Given the description of an element on the screen output the (x, y) to click on. 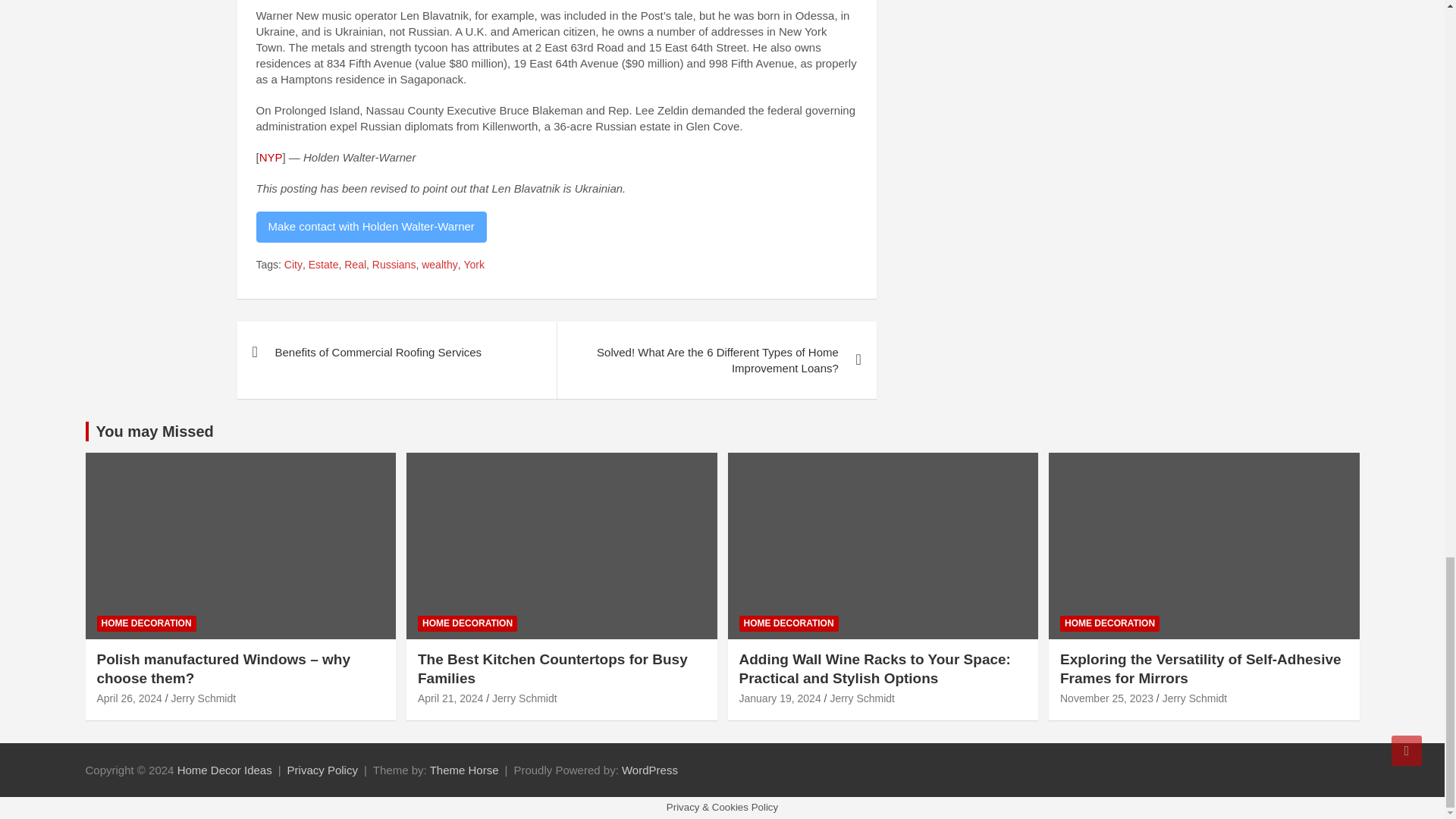
The Best Kitchen Countertops for Busy Families (450, 698)
wealthy (439, 264)
City (292, 264)
Russians (394, 264)
Theme Horse (464, 769)
Benefits of Commercial Roofing Services (395, 352)
Home Decor Ideas (224, 769)
York (473, 264)
Real (354, 264)
NYP (270, 156)
Estate (323, 264)
Make contact with Holden Walter-Warner (371, 226)
WordPress (649, 769)
